Given the description of an element on the screen output the (x, y) to click on. 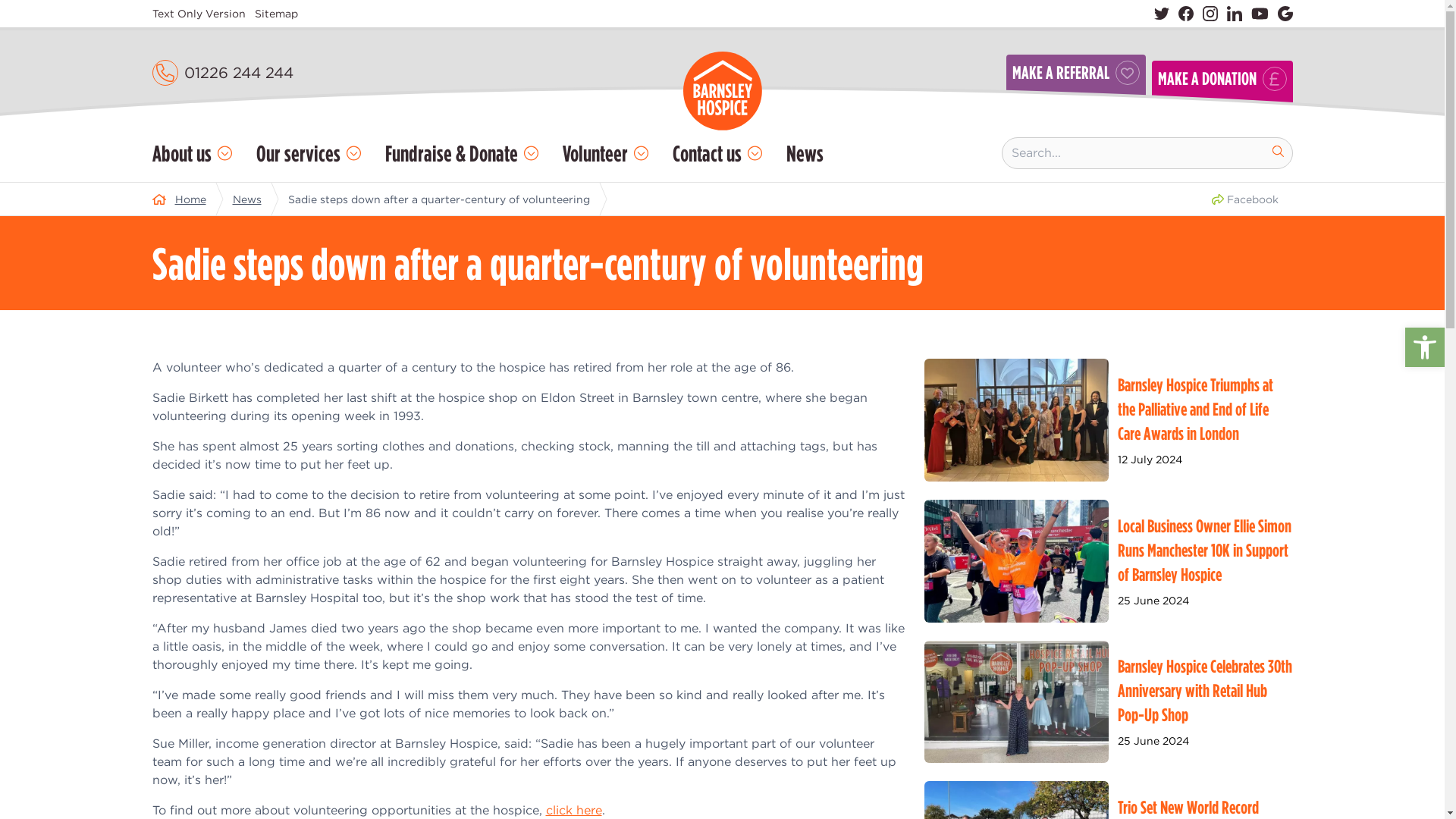
Just Giving (1284, 13)
Facebook (1185, 13)
Our services (308, 152)
MAKE A DONATION (1221, 87)
YouTube (1259, 13)
LinkedIn (1234, 13)
About us (191, 152)
MAKE A REFERRAL (1075, 84)
01226 244 244 (237, 72)
Text Only Version (197, 13)
Instagram (1209, 13)
Sitemap (276, 13)
Twitter (1161, 13)
